Given the description of an element on the screen output the (x, y) to click on. 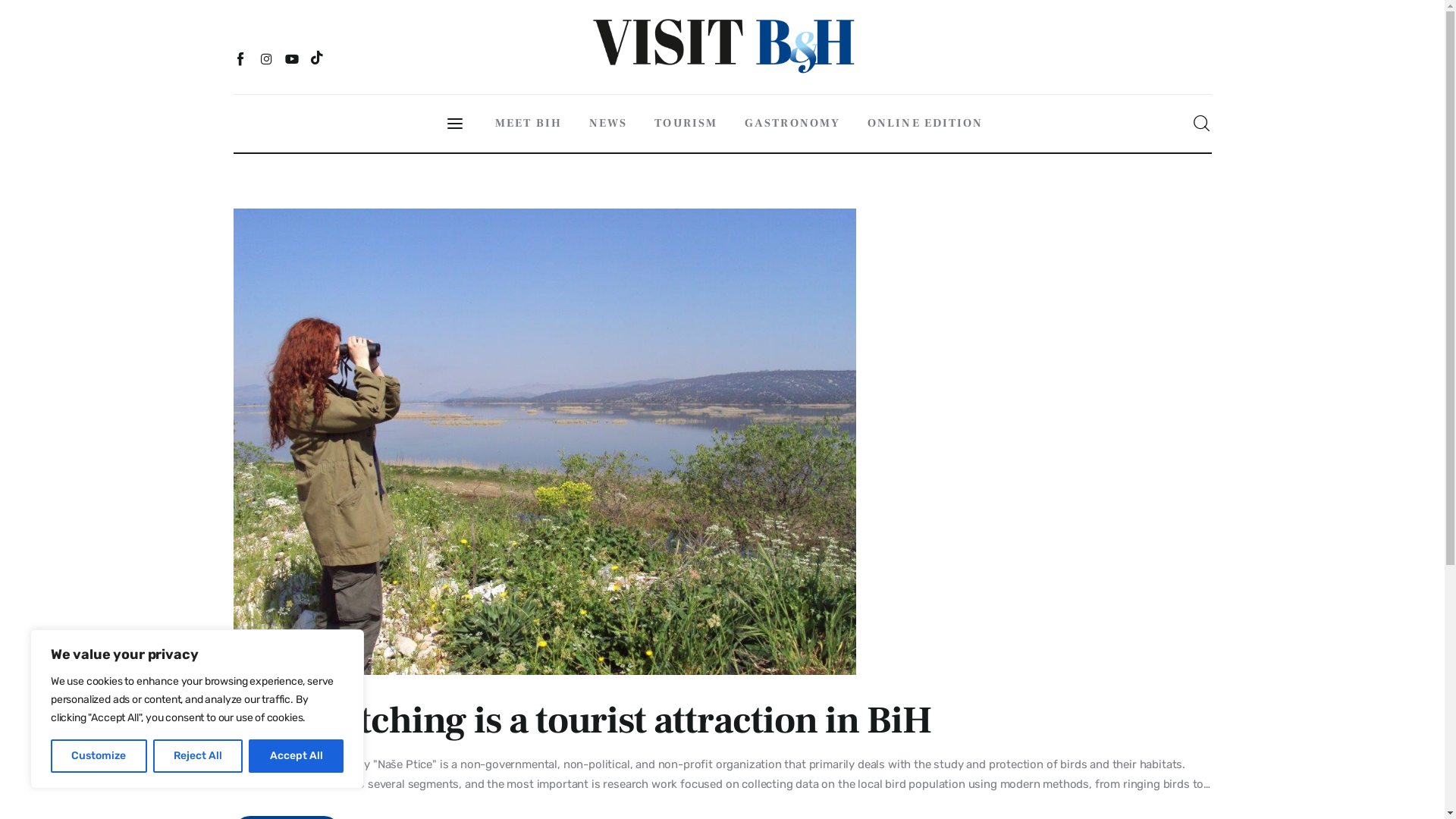
Bird watching is a tourist attraction in BiH Element type: text (582, 720)
Reject All Element type: text (198, 755)
TOURISM Element type: text (685, 123)
GASTRONOMY Element type: text (792, 123)
Customize Element type: text (98, 755)
Accept All Element type: text (295, 755)
MEET BIH Element type: text (528, 123)
ONLINE EDITION Element type: text (924, 123)
NEWS Element type: text (607, 123)
